Given the description of an element on the screen output the (x, y) to click on. 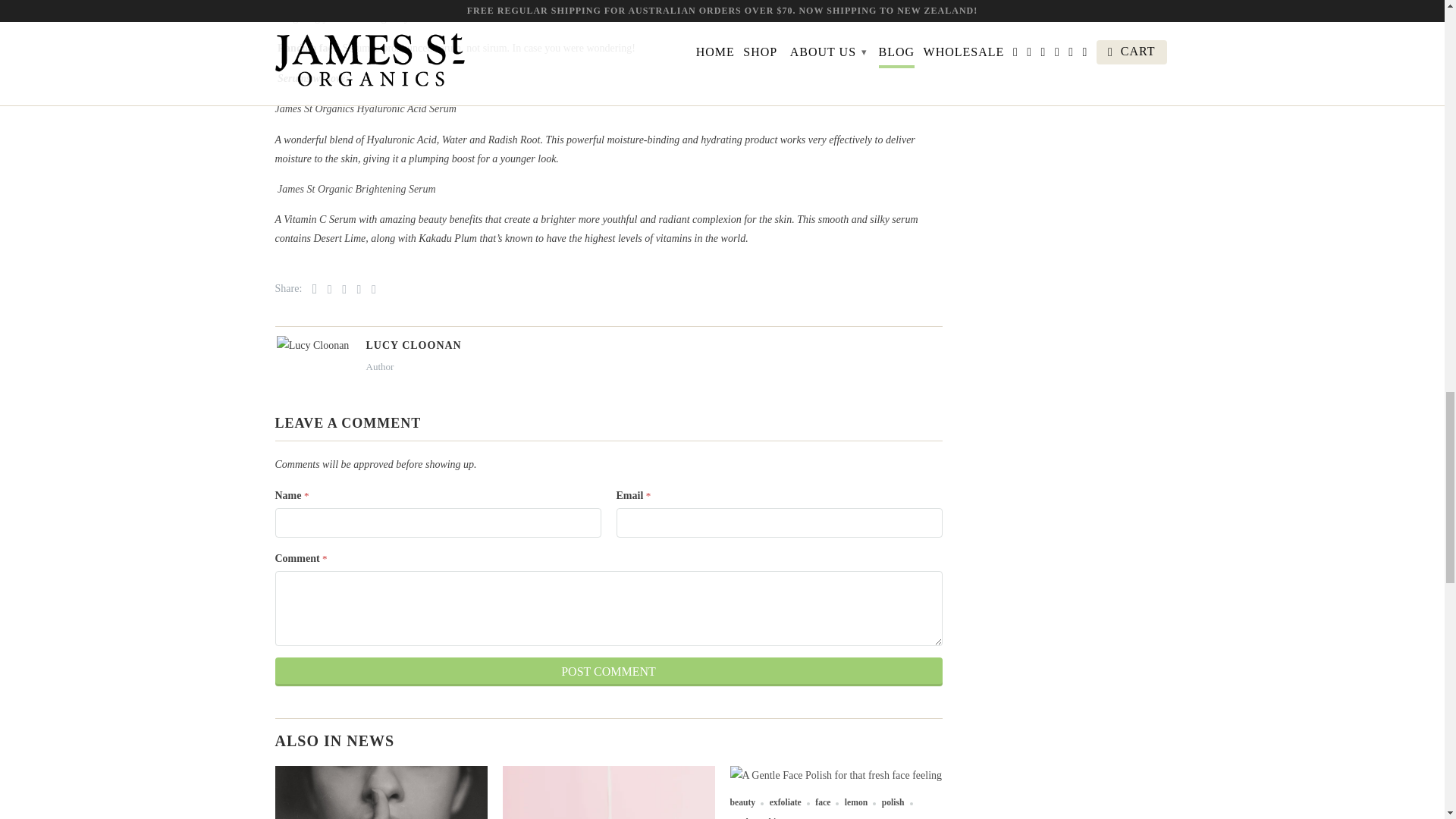
James St Organics Hyaluronic Acid Serum (365, 108)
A Gentle Face Polish for that fresh face feeling (835, 775)
Post comment (608, 671)
Share this on Pinterest (340, 288)
Email this to a friend (369, 288)
Share this on Facebook (325, 288)
James St Organic Brightening Serum (356, 188)
Post comment (608, 671)
